Given the description of an element on the screen output the (x, y) to click on. 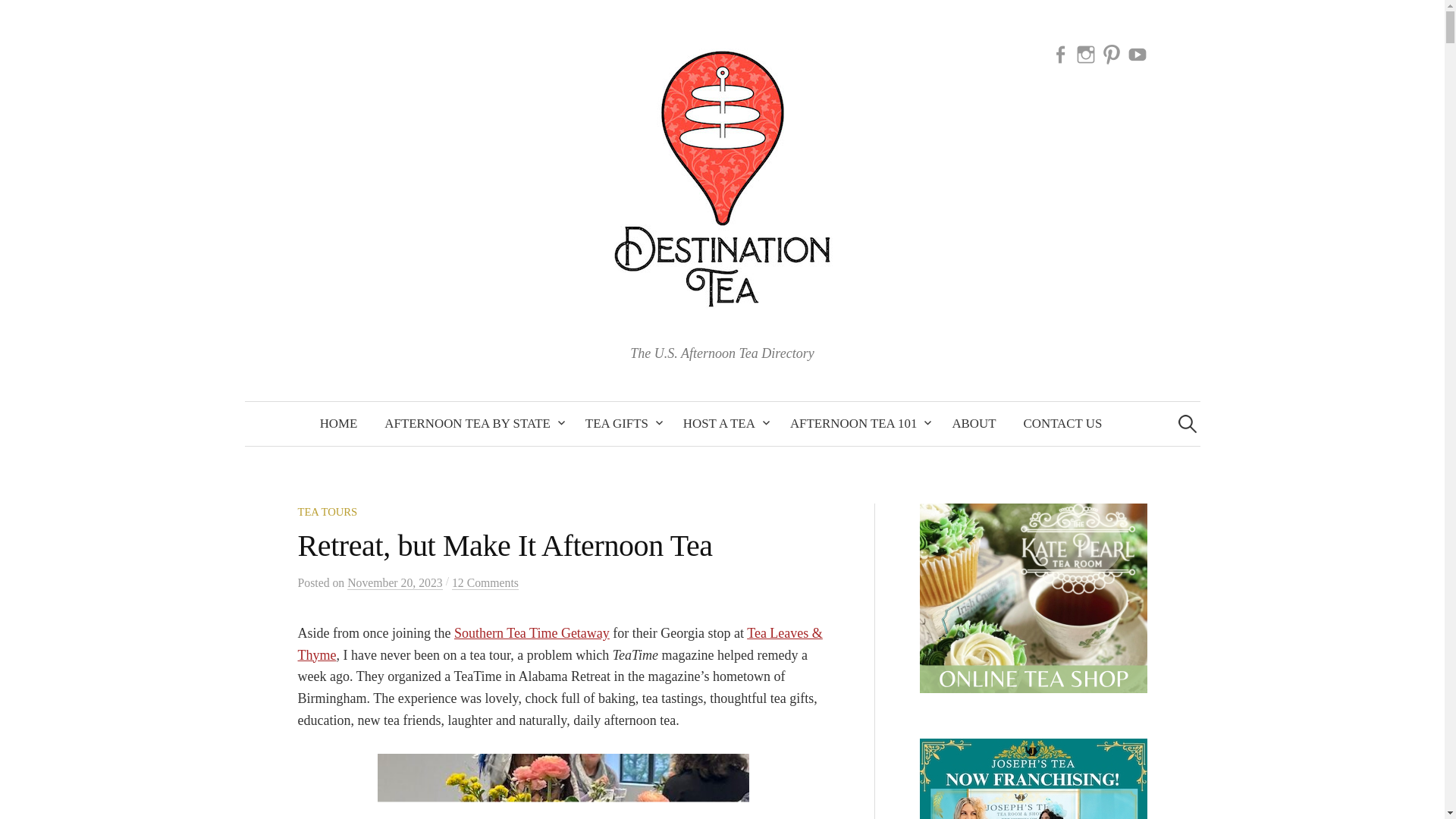
Destination Tea Facebook Page (1059, 53)
Destination Tea on Pinterest (1111, 53)
Destination Tea on Instagram (1085, 53)
HOME (338, 423)
AFTERNOON TEA BY STATE (471, 423)
Destination Tea on YouTube (1136, 53)
